Given the description of an element on the screen output the (x, y) to click on. 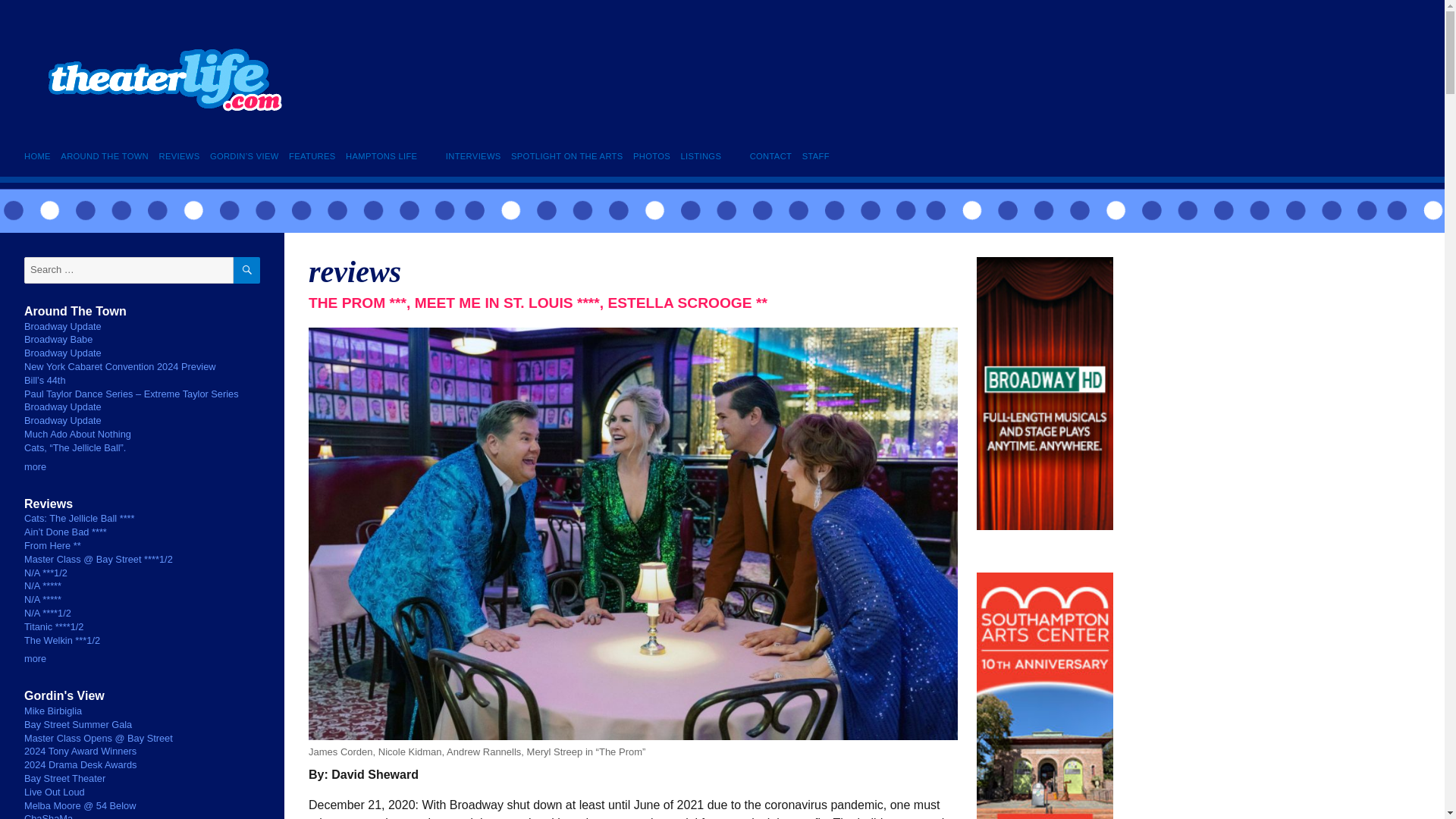
STAFF (815, 156)
AROUND THE TOWN (105, 156)
CONTACT (770, 156)
SPOTLIGHT ON THE ARTS (566, 156)
LISTINGS (700, 156)
PHOTOS (651, 156)
INTERVIEWS (473, 156)
HOME (40, 156)
FEATURES (311, 156)
REVIEWS (179, 156)
HAMPTONS LIFE (381, 156)
